Given the description of an element on the screen output the (x, y) to click on. 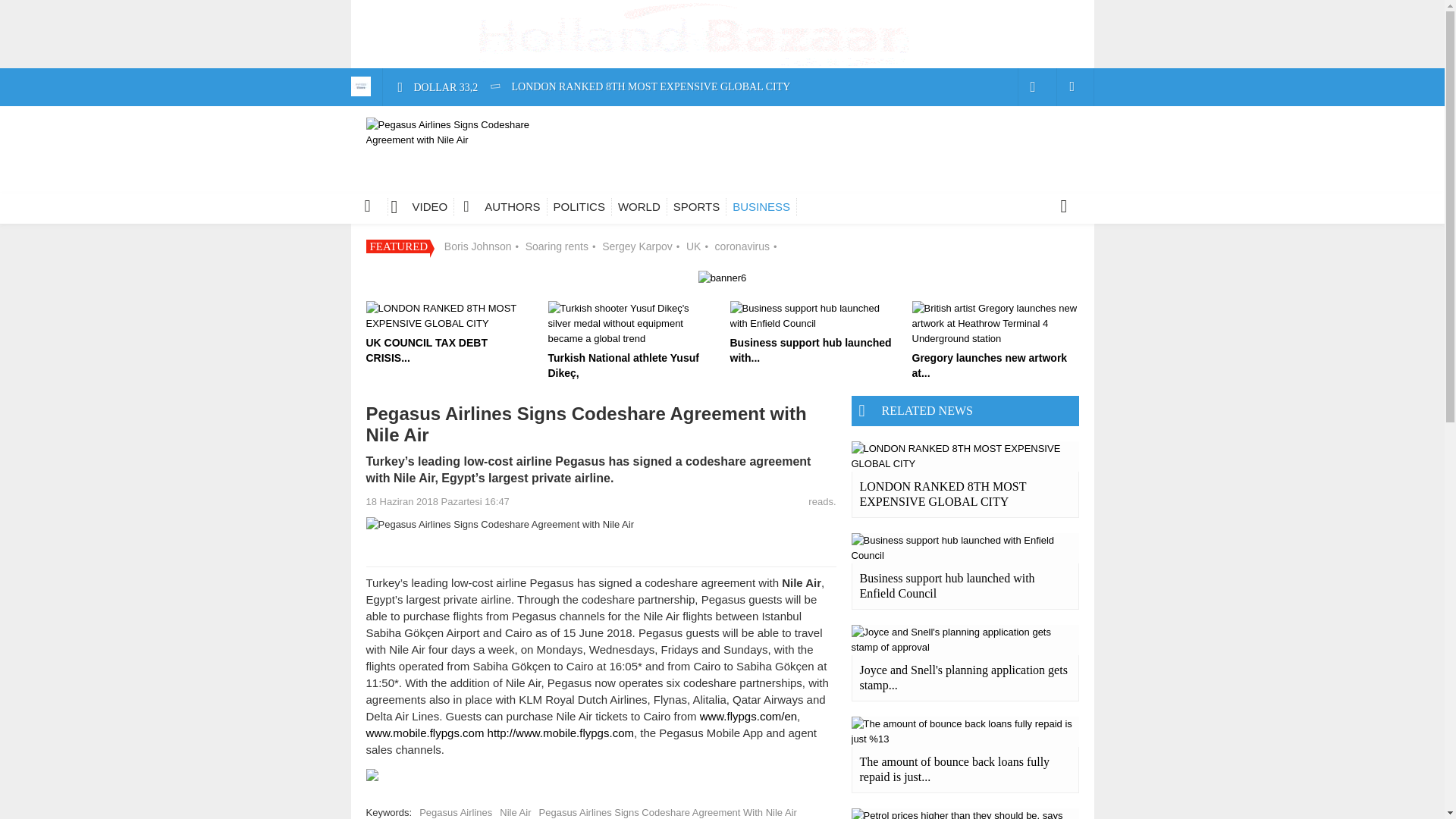
VIDEO (424, 207)
Business support hub launched with Enfield Council (611, 163)
LONDON RANKED 8TH MOST EXPENSIVE GLOBAL CITY (638, 87)
Business support hub launched with Enfield Council (611, 163)
SPORTS (696, 207)
LONDON RANKED 8TH MOST EXPENSIVE GLOBAL CITY (638, 87)
WORLD (638, 207)
WORLD (638, 207)
MBA program at Kazakh National Research University (616, 277)
BUSINESS (761, 207)
